Given the description of an element on the screen output the (x, y) to click on. 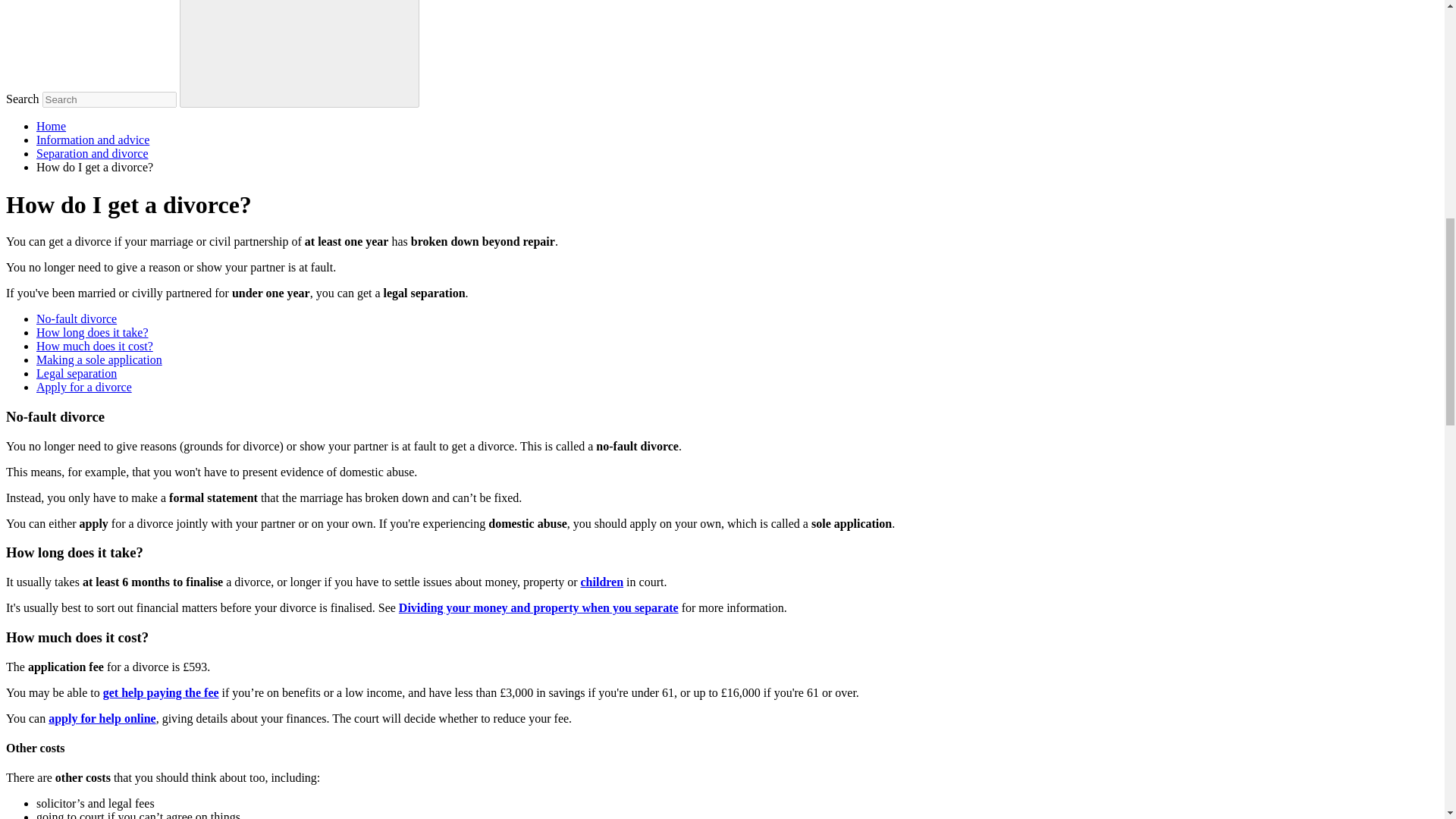
Apply for a divorce (84, 386)
Legal separation (76, 373)
get help paying the fee (161, 692)
Making a sole application (98, 359)
How much does it cost? (94, 345)
Apply for a divorce (84, 386)
Making a sole application (98, 359)
Search (299, 53)
Legal separation (76, 373)
Information and advice (92, 139)
Separation and divorce (92, 153)
Search (299, 51)
Dividing your money and property when you separate (538, 607)
apply for help online (101, 717)
How long does it take? (92, 332)
